Given the description of an element on the screen output the (x, y) to click on. 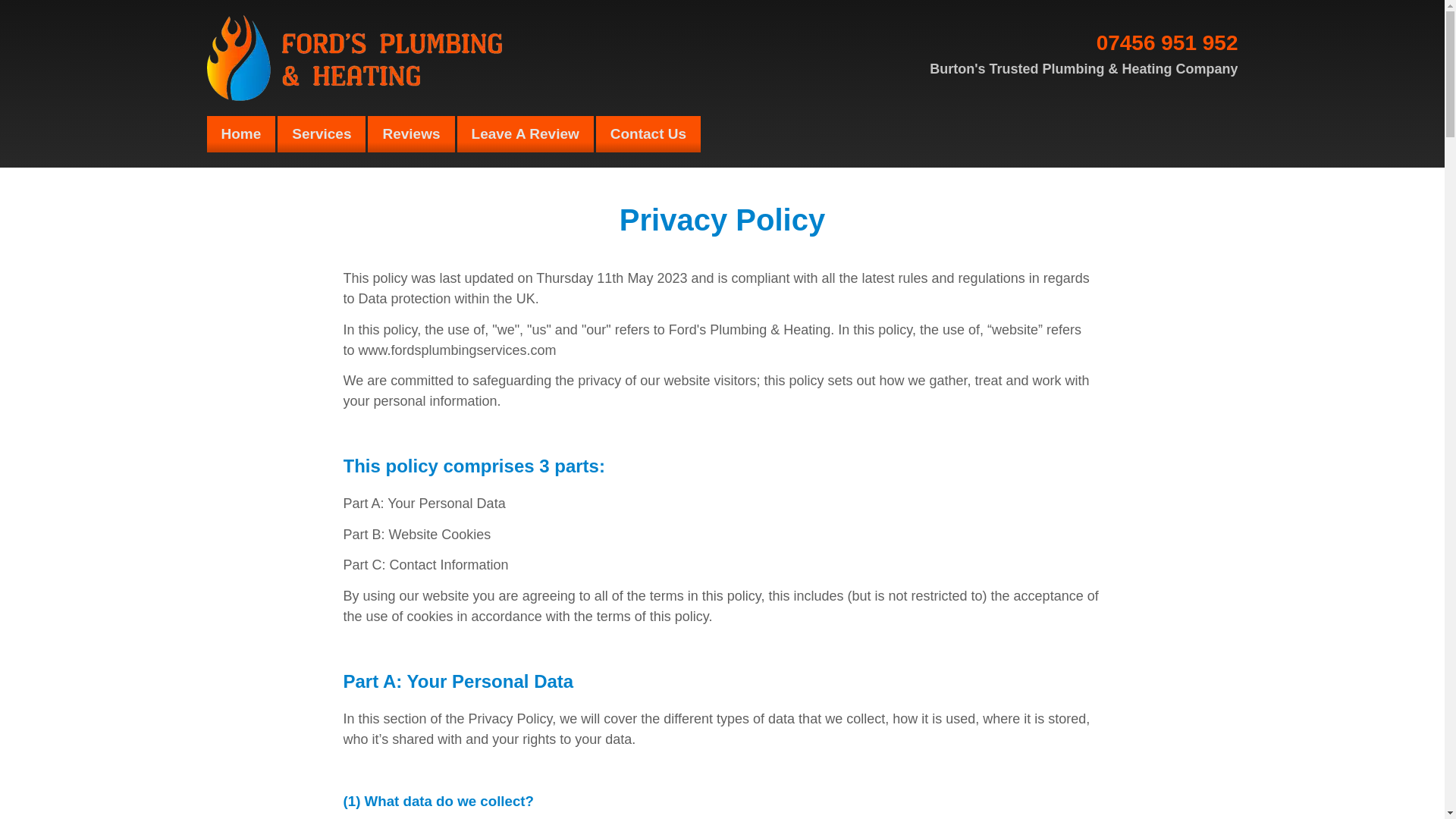
Contact Us (647, 134)
Home (240, 134)
07456 951 952 (1167, 42)
Services (321, 134)
Reviews (411, 134)
Leave A Review (525, 134)
